Given the description of an element on the screen output the (x, y) to click on. 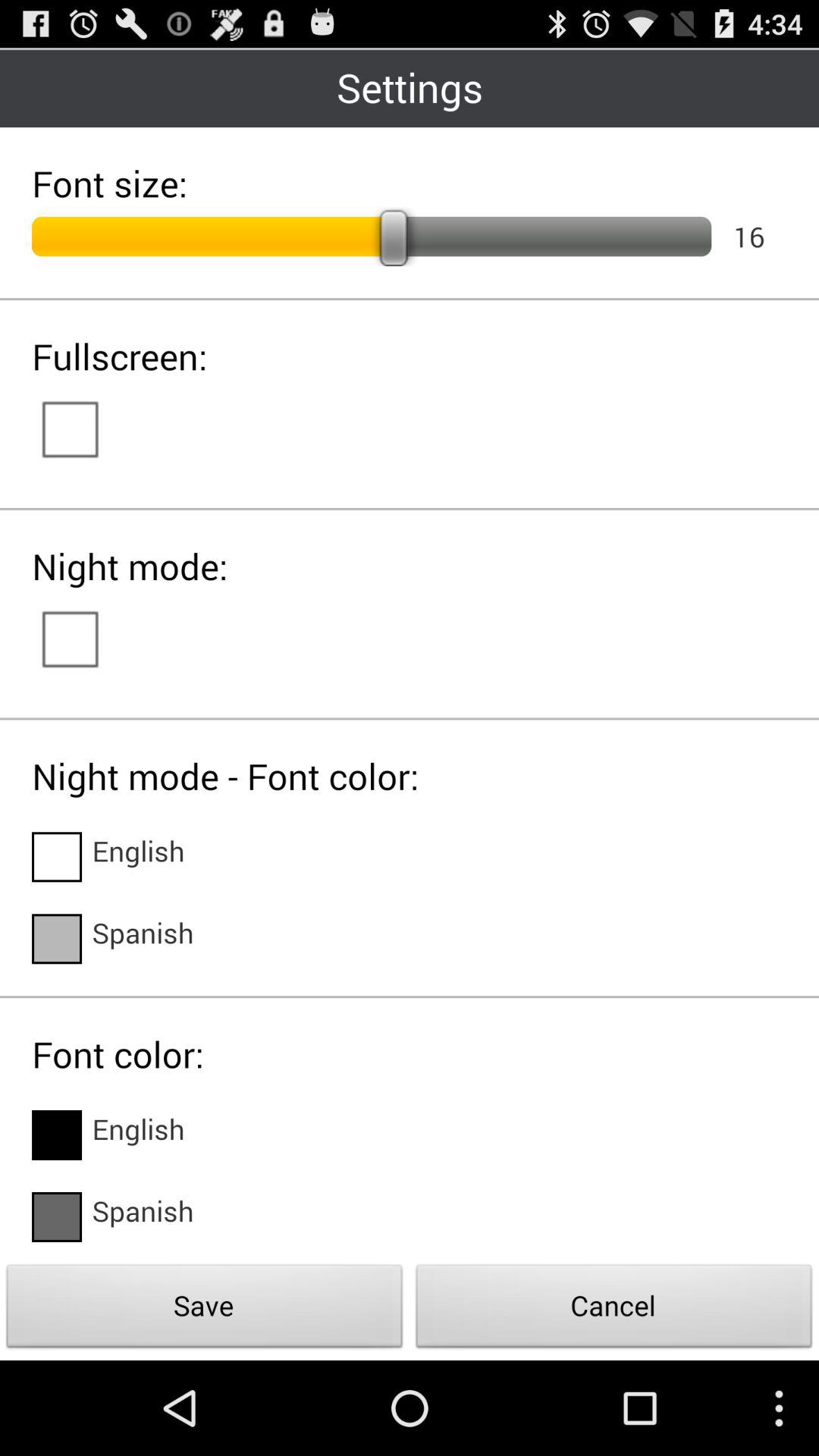
night mode spanish toggle (56, 938)
